Given the description of an element on the screen output the (x, y) to click on. 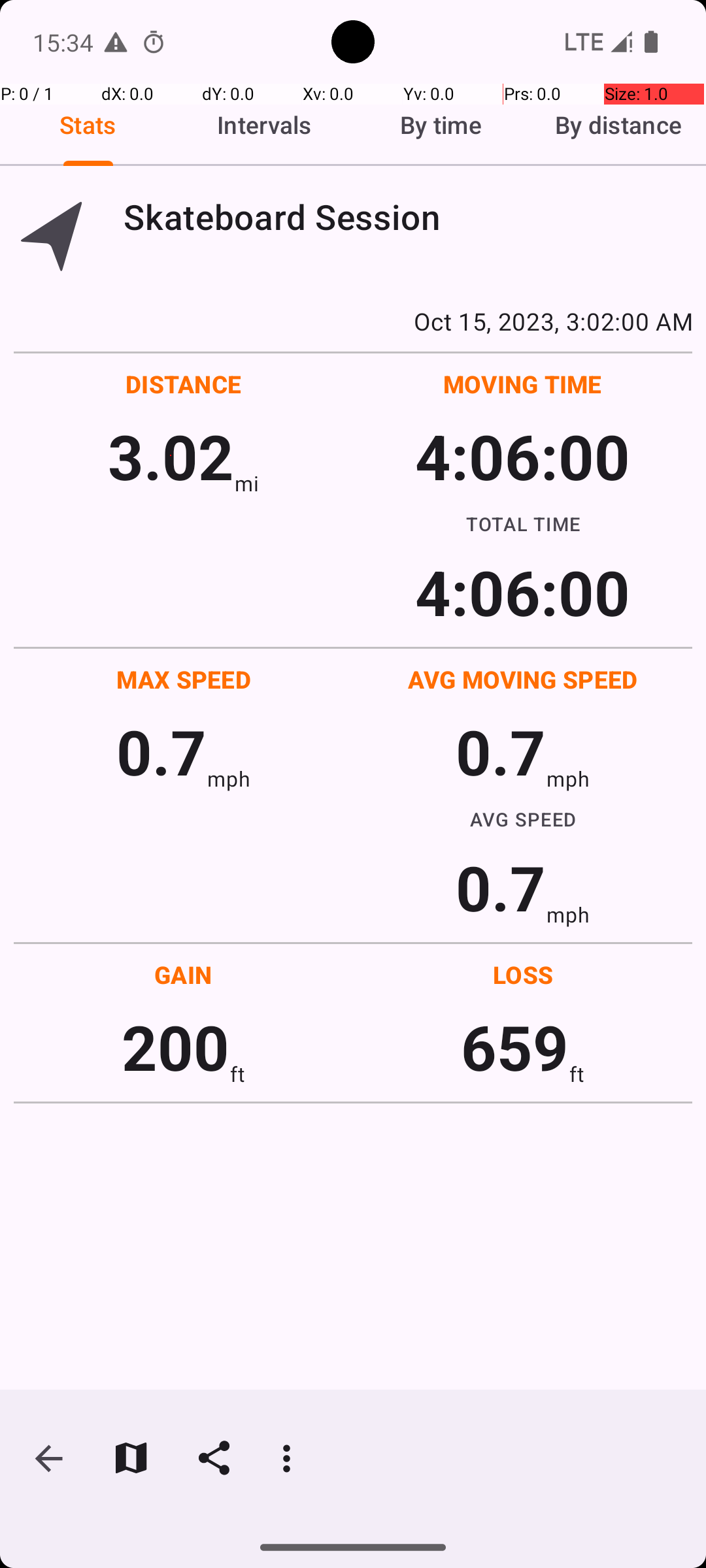
Skateboard Session Element type: android.widget.TextView (407, 216)
Oct 15, 2023, 3:02:00 AM Element type: android.widget.TextView (352, 320)
3.02 Element type: android.widget.TextView (170, 455)
4:06:00 Element type: android.widget.TextView (522, 455)
0.7 Element type: android.widget.TextView (161, 750)
200 Element type: android.widget.TextView (175, 1045)
659 Element type: android.widget.TextView (514, 1045)
